Given the description of an element on the screen output the (x, y) to click on. 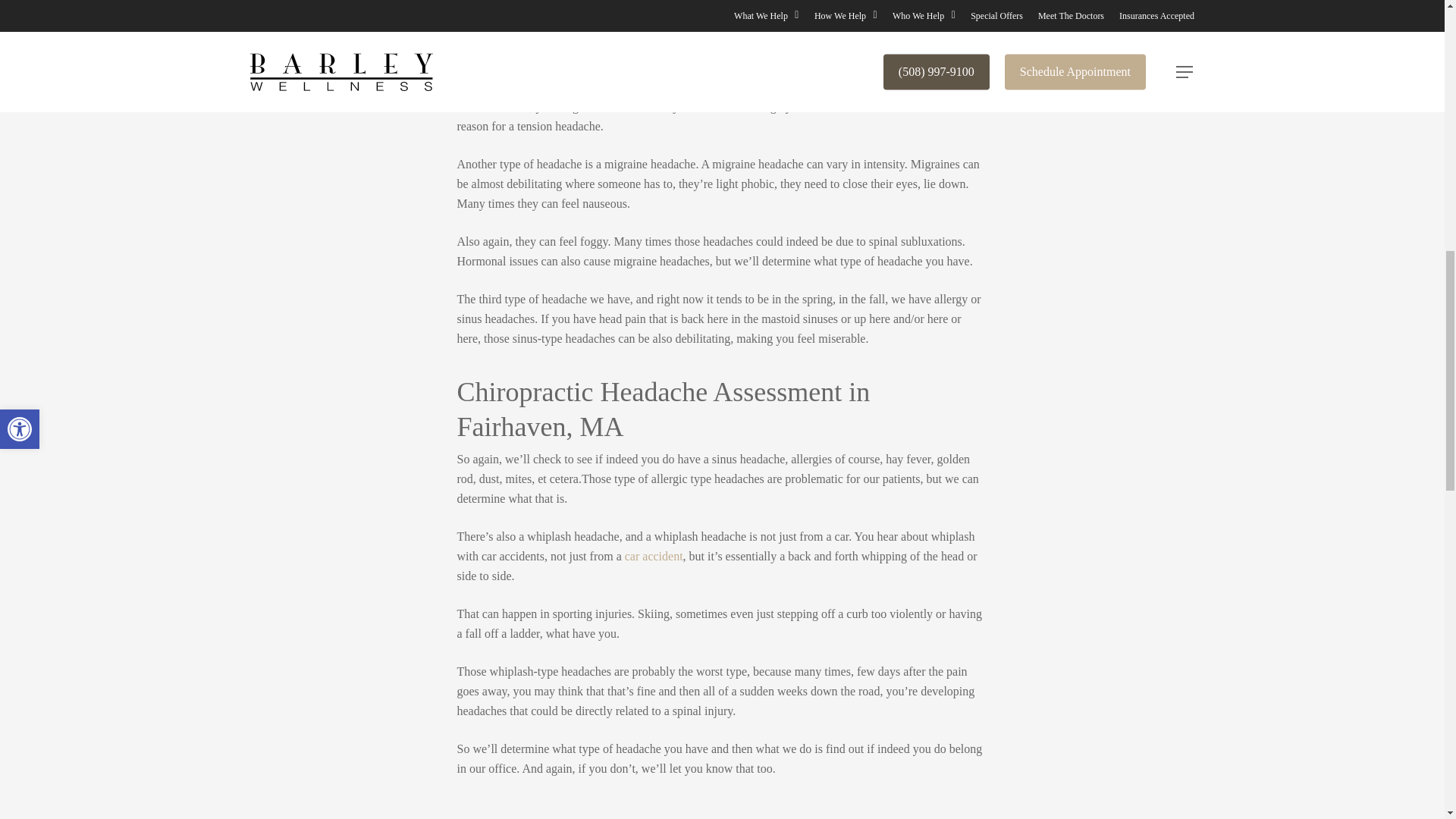
Car Accident (653, 555)
